Given the description of an element on the screen output the (x, y) to click on. 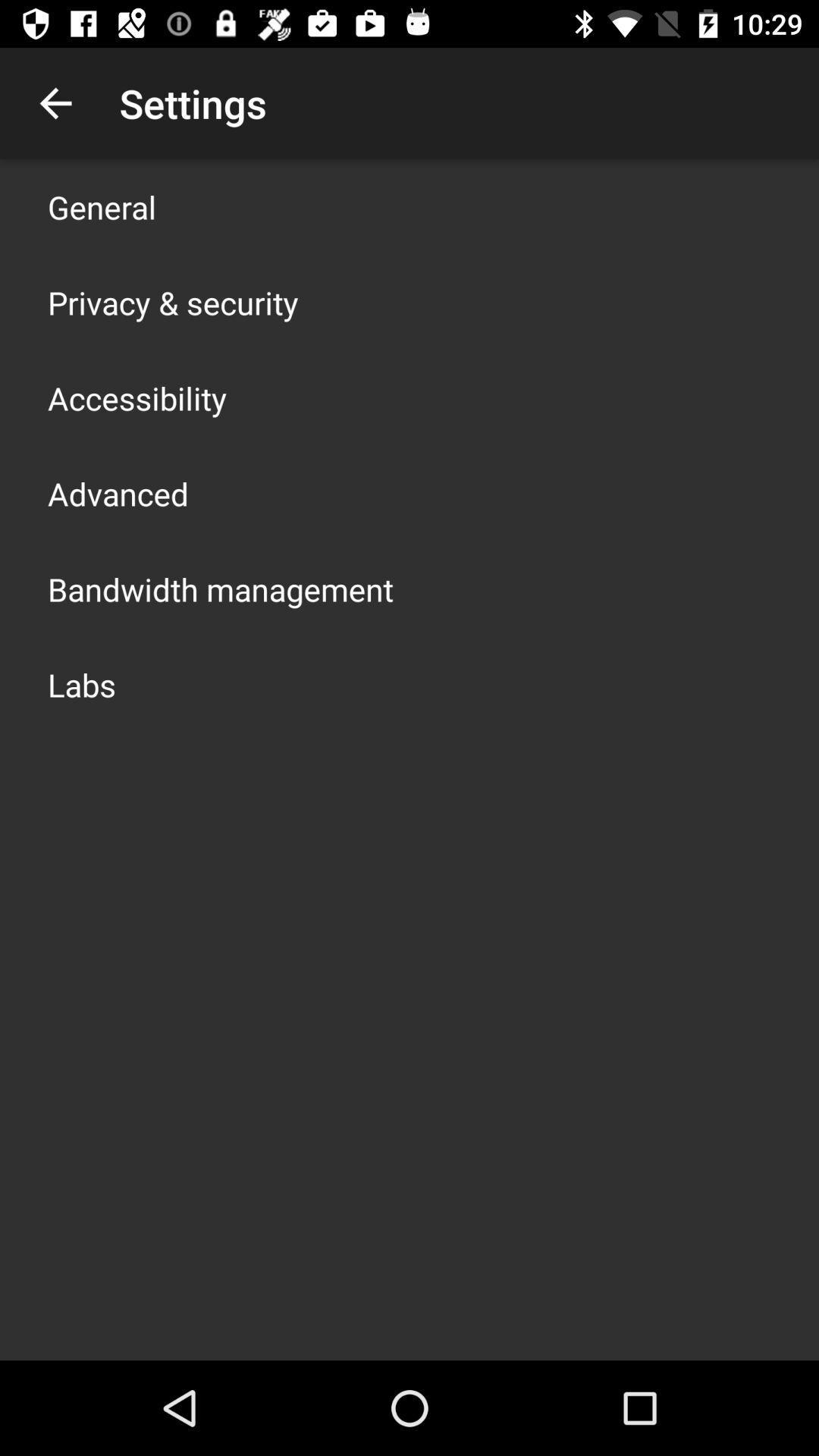
jump until advanced icon (117, 493)
